Given the description of an element on the screen output the (x, y) to click on. 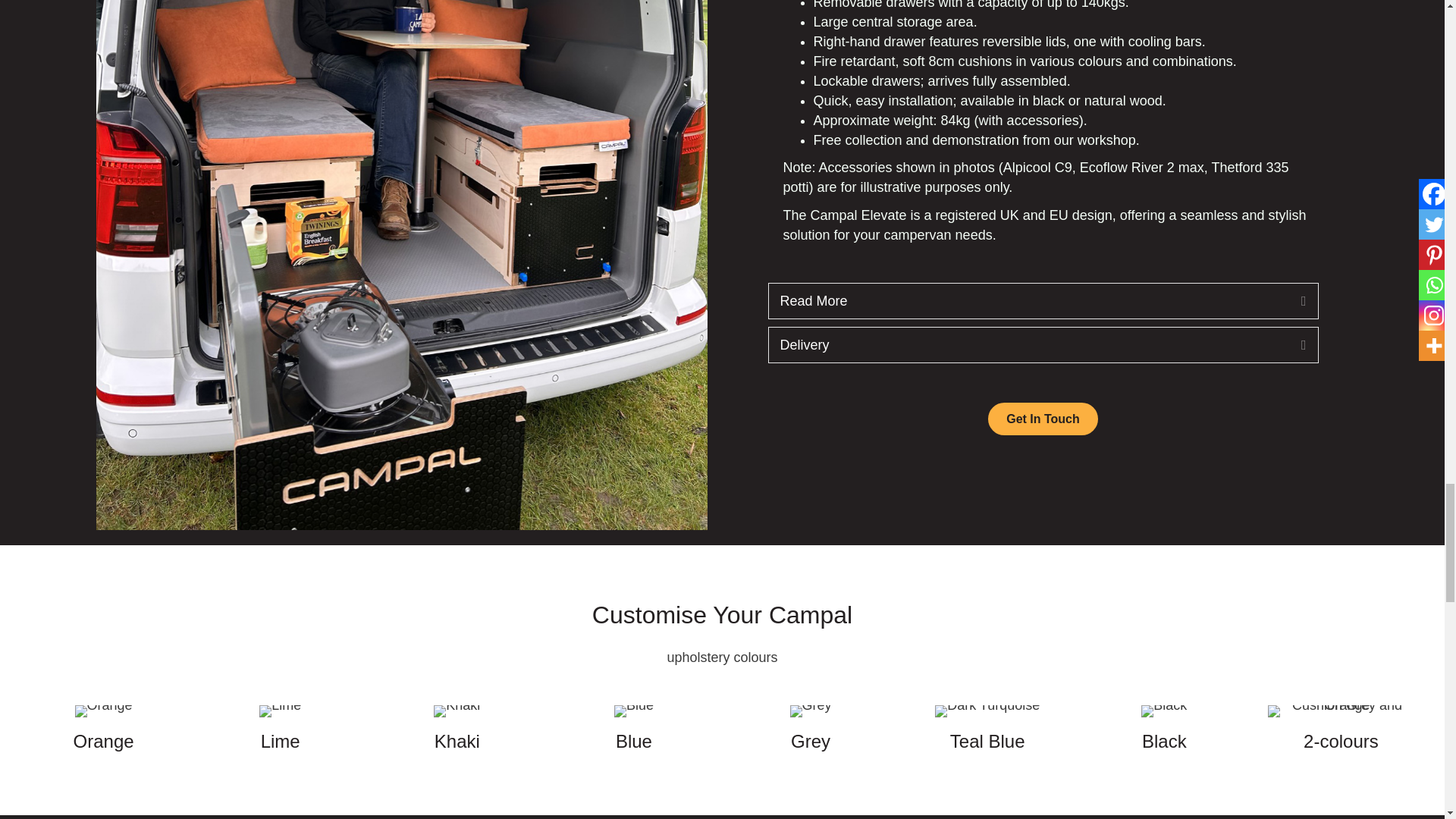
Expand (1292, 344)
Expand (1292, 301)
Read More (1028, 301)
Orange (103, 711)
Delivery (1028, 344)
Get In Touch (1043, 418)
